Given the description of an element on the screen output the (x, y) to click on. 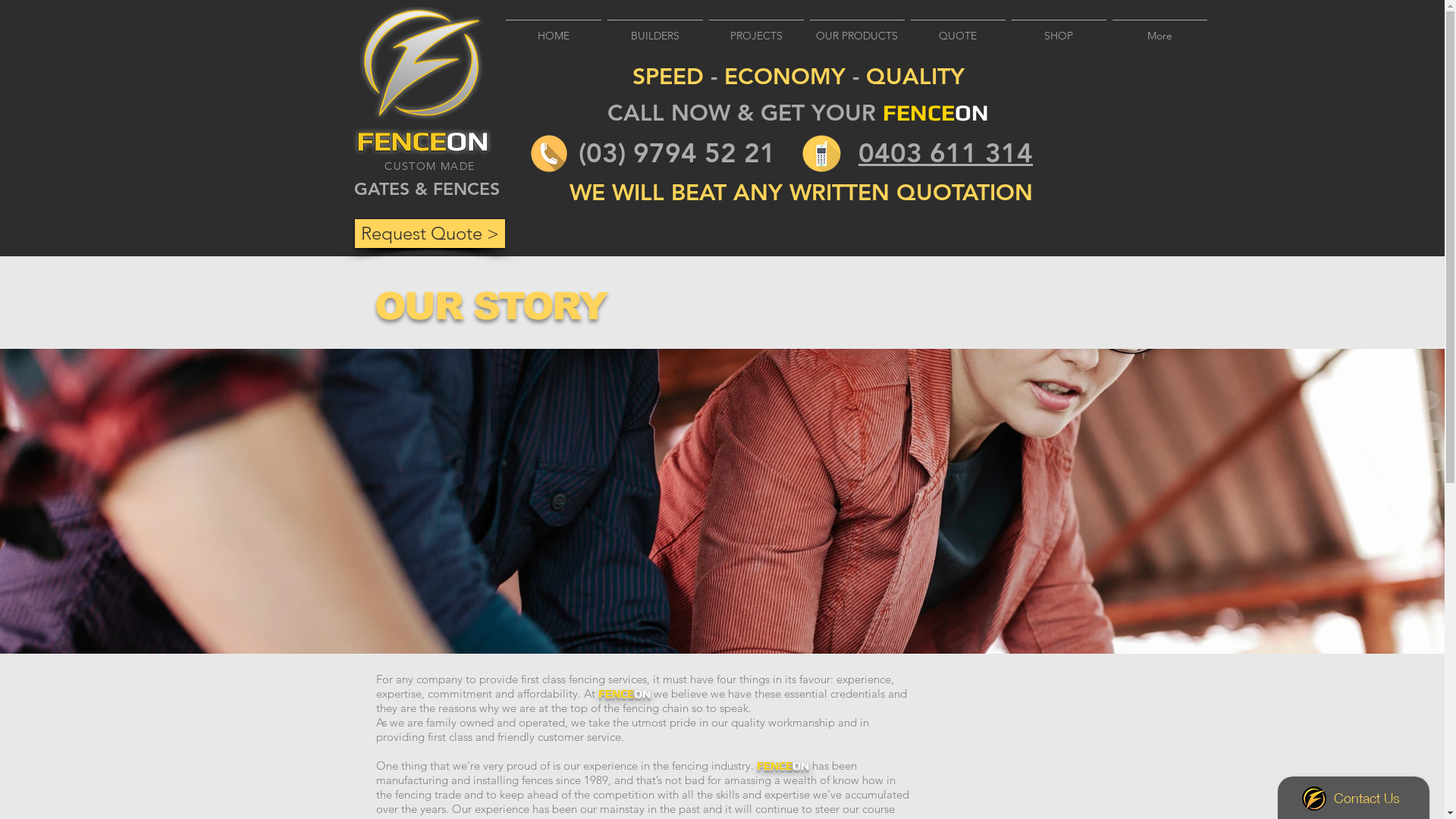
OUR PRODUCTS Element type: text (856, 28)
SPEED - ECONOMY - QUALITY Element type: text (798, 76)
QUOTE Element type: text (956, 28)
GATES & FENCES Element type: text (426, 188)
0403 611 314 Element type: text (945, 152)
Request Quote > Element type: text (429, 233)
PROJECTS Element type: text (755, 28)
BUILDERS Element type: text (654, 28)
(03) 9794 52 21 Element type: text (676, 152)
HOME Element type: text (552, 28)
CALL NOW & GET YOUR FENCEON Element type: text (797, 112)
WE WILL BEAT ANY WRITTEN QUOTATION Element type: text (800, 192)
SHOP Element type: text (1058, 28)
Online Store Element type: hover (1062, 70)
